Given the description of an element on the screen output the (x, y) to click on. 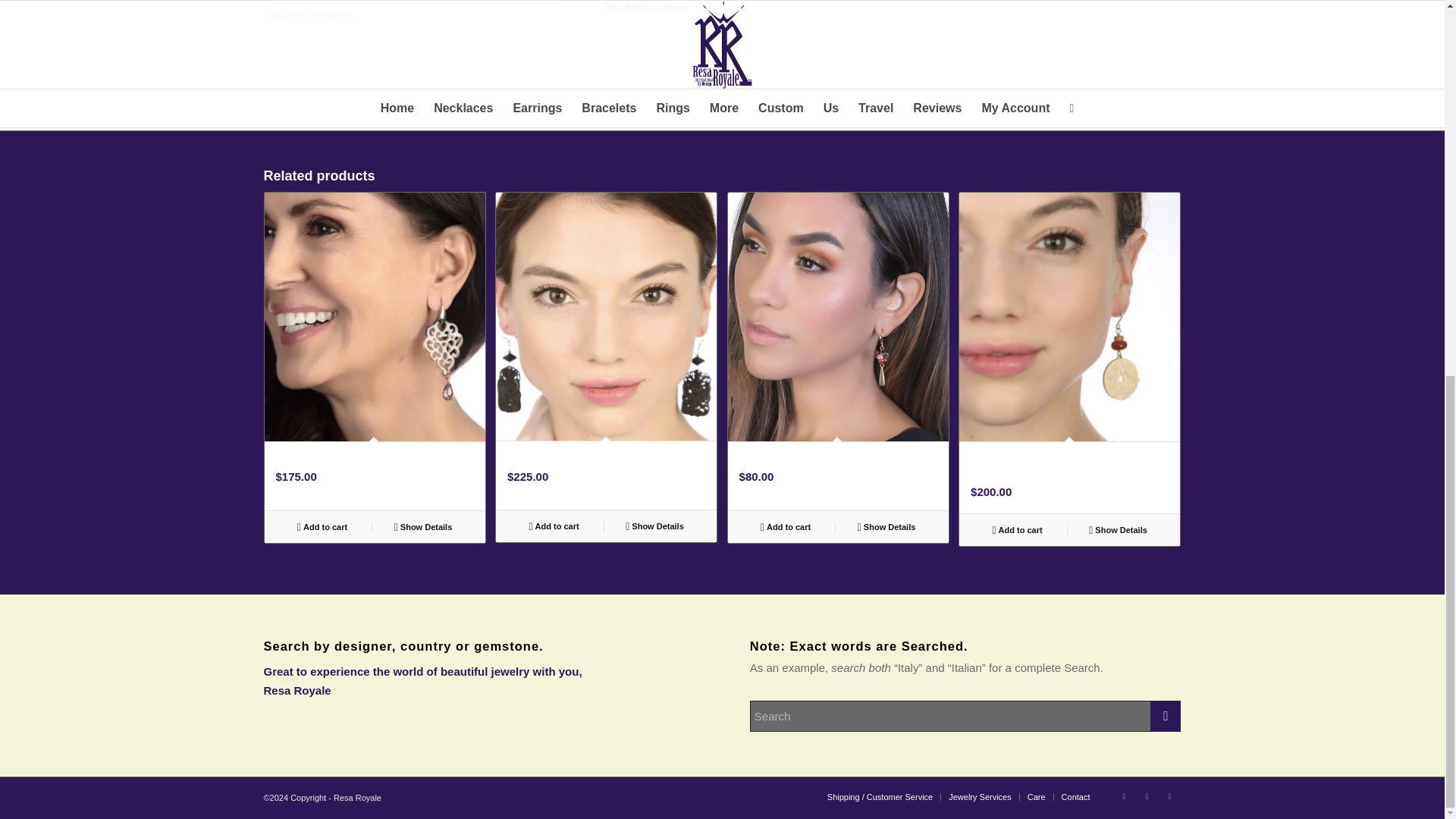
Instagram (1146, 795)
Show Details (1118, 529)
Pinterest (1169, 795)
Show Details (654, 525)
Add to cart (553, 525)
Earrings (706, 6)
Show Details (422, 526)
Facebook (1124, 795)
Click to start search (1165, 716)
Search (285, 53)
Add to cart (785, 526)
Add to cart (1016, 529)
Show Details (886, 526)
Add to cart (321, 526)
